Given the description of an element on the screen output the (x, y) to click on. 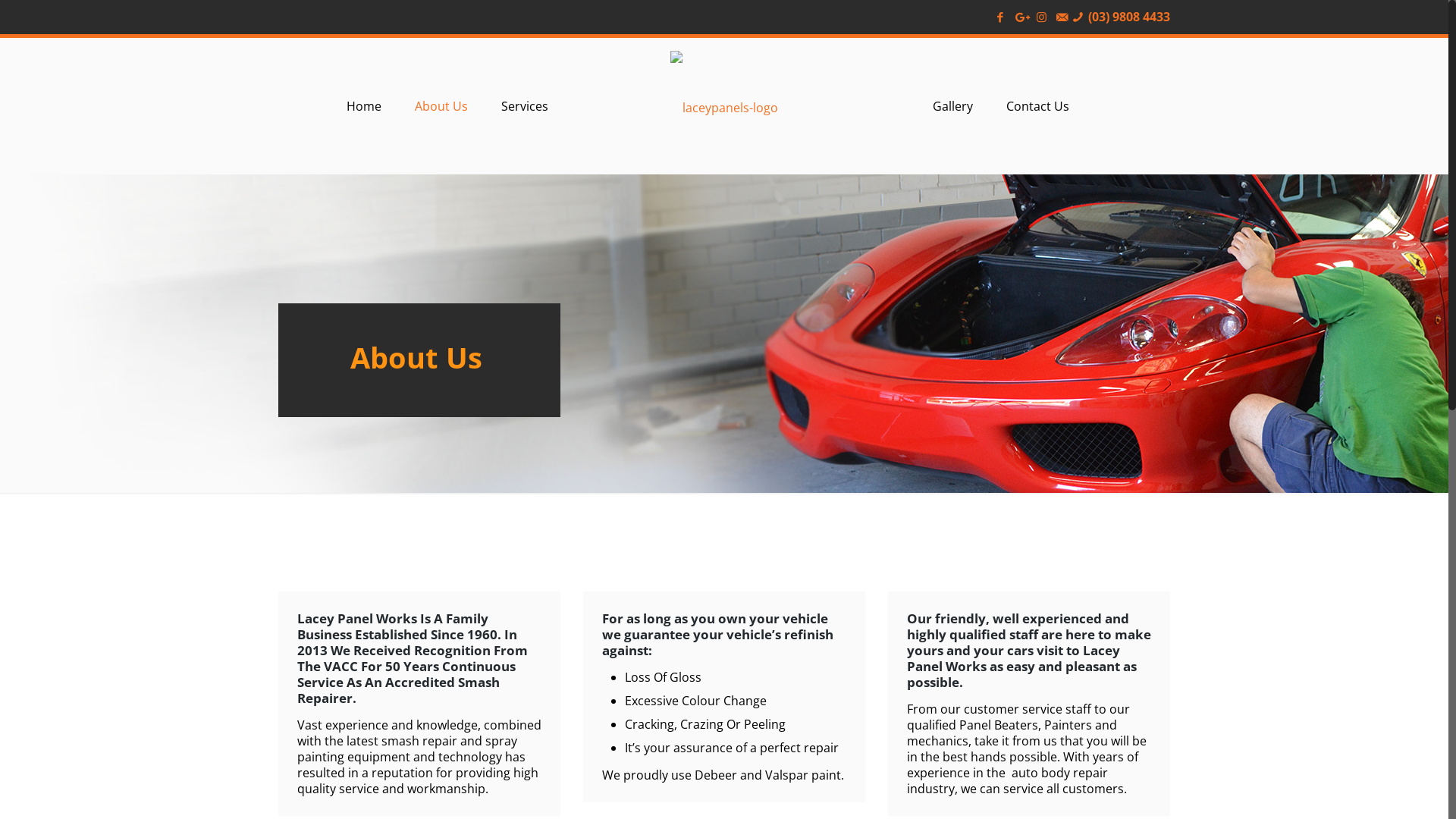
(03) 9808 4433 Element type: text (1129, 16)
Home Element type: text (363, 105)
Gallery Element type: text (952, 105)
Facebook Element type: hover (1000, 16)
Instagram Element type: hover (1041, 16)
Services Element type: text (524, 105)
Lacey Panels Element type: hover (724, 105)
Contact Us Element type: text (1037, 105)
Google+ Element type: hover (1021, 16)
About Us Element type: text (441, 105)
